Given the description of an element on the screen output the (x, y) to click on. 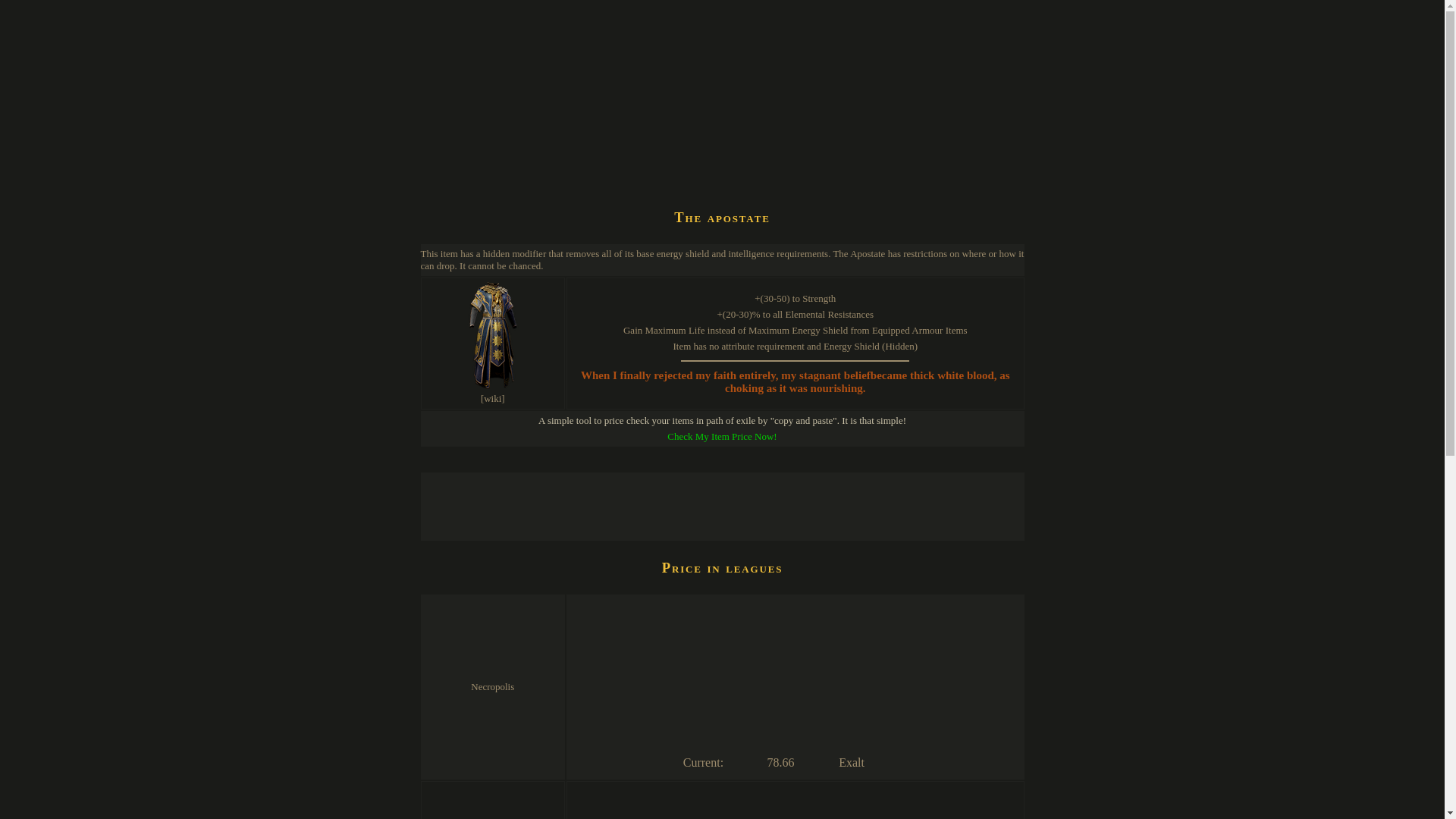
Check My Item Price Now! (721, 436)
Advertisement (696, 506)
Advertisement (696, 154)
